Given the description of an element on the screen output the (x, y) to click on. 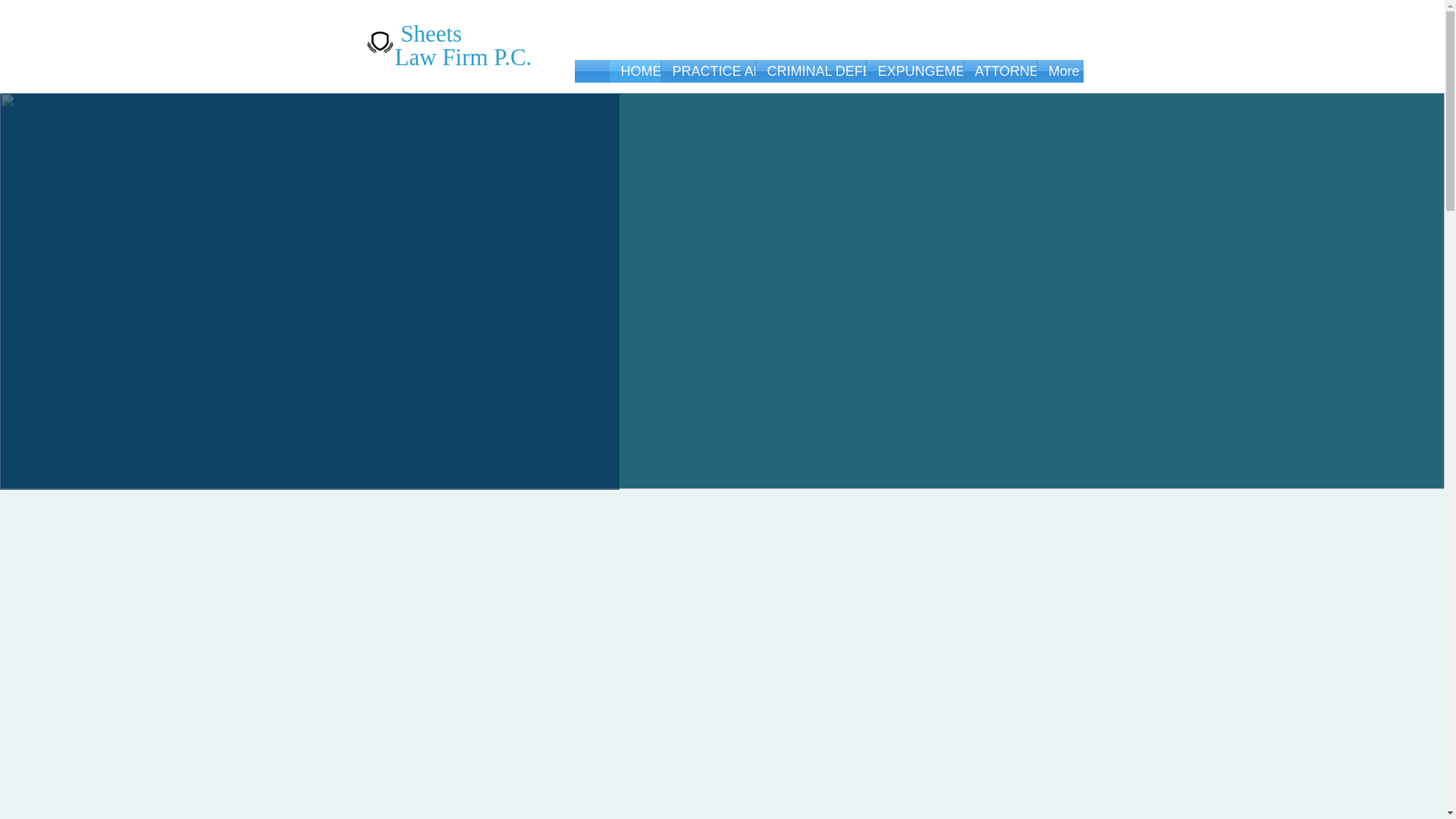
EXPUNGEMENTS (914, 70)
HOME (635, 70)
CRIMINAL DEFENSE (809, 70)
ATTORNEYS (998, 70)
PRACTICE AREAS (708, 70)
